Given the description of an element on the screen output the (x, y) to click on. 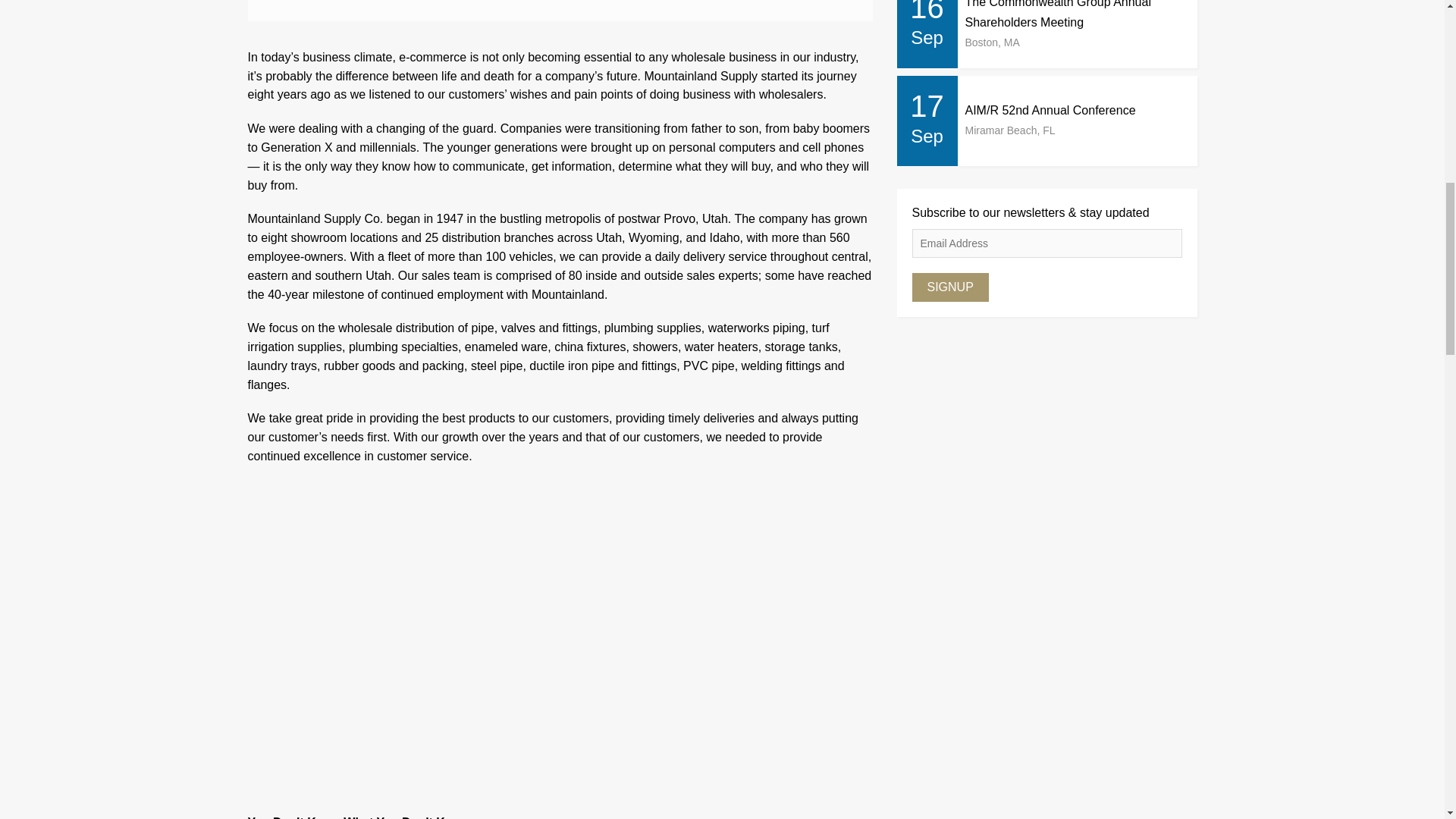
SIGNUP (949, 287)
